Given the description of an element on the screen output the (x, y) to click on. 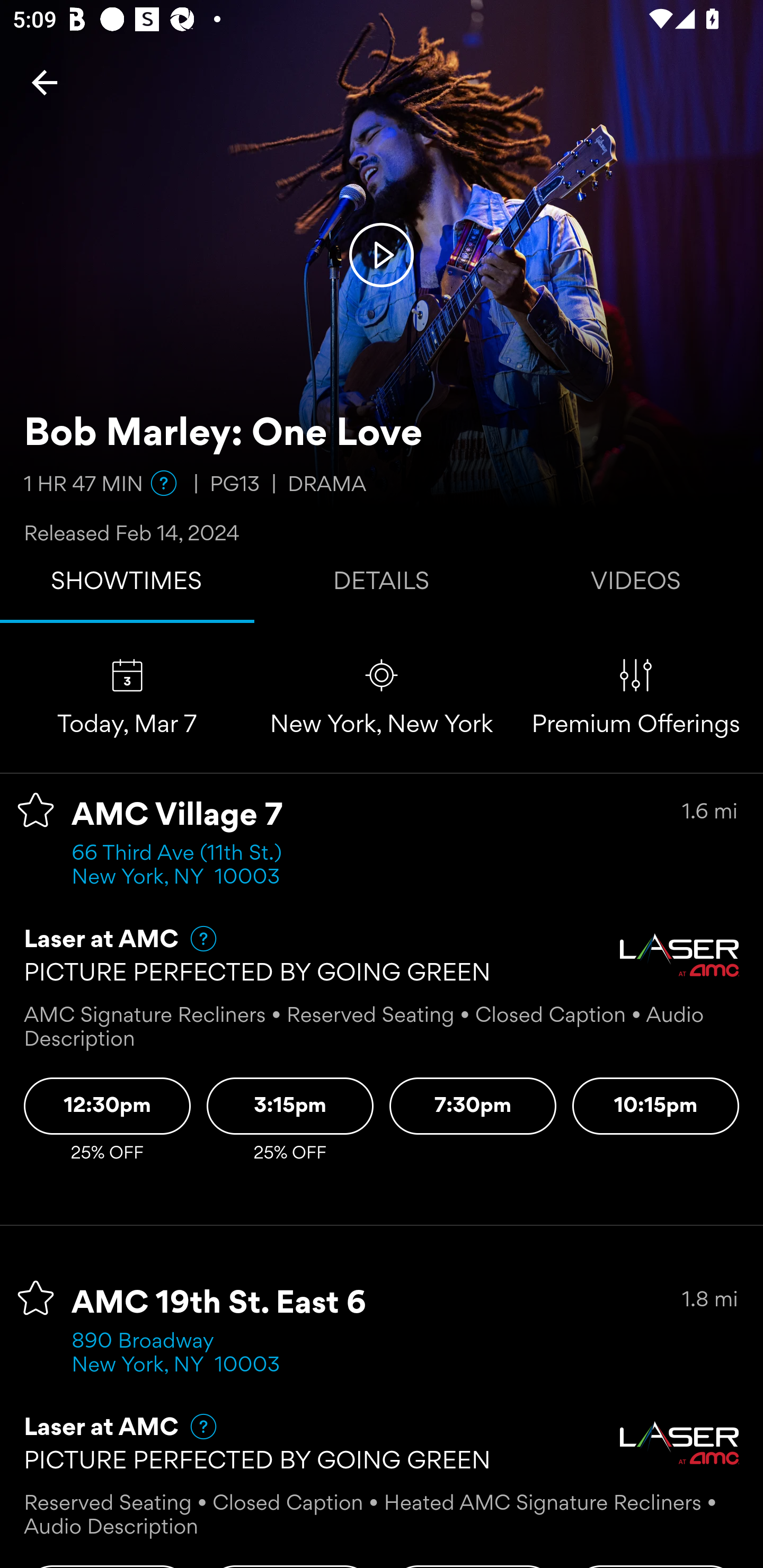
Back (44, 82)
Play (381, 254)
Help (163, 482)
SHOWTIMES
Tab 1 of 3 (127, 584)
DETAILS
Tab 2 of 3 (381, 584)
VIDEOS
Tab 3 of 3 (635, 584)
Change selected day
Today, Mar 7 (127, 697)
Change location
New York, New York (381, 697)
Premium Offerings
Premium Offerings (635, 697)
AMC Village 7 (177, 816)
66 Third Ave (11th St.)  
New York, NY  10003 (182, 866)
Help (195, 938)
AMC Village 7 Laser at AMC 12:30pm Showtime Button (106, 1105)
AMC Village 7 Laser at AMC 3:15pm Showtime Button (289, 1105)
AMC Village 7 Laser at AMC 7:30pm Showtime Button (472, 1105)
AMC Village 7 Laser at AMC 10:15pm Showtime Button (655, 1105)
AMC 19th St. East 6 (219, 1303)
890 Broadway  
New York, NY  10003 (176, 1353)
Help (195, 1426)
